Given the description of an element on the screen output the (x, y) to click on. 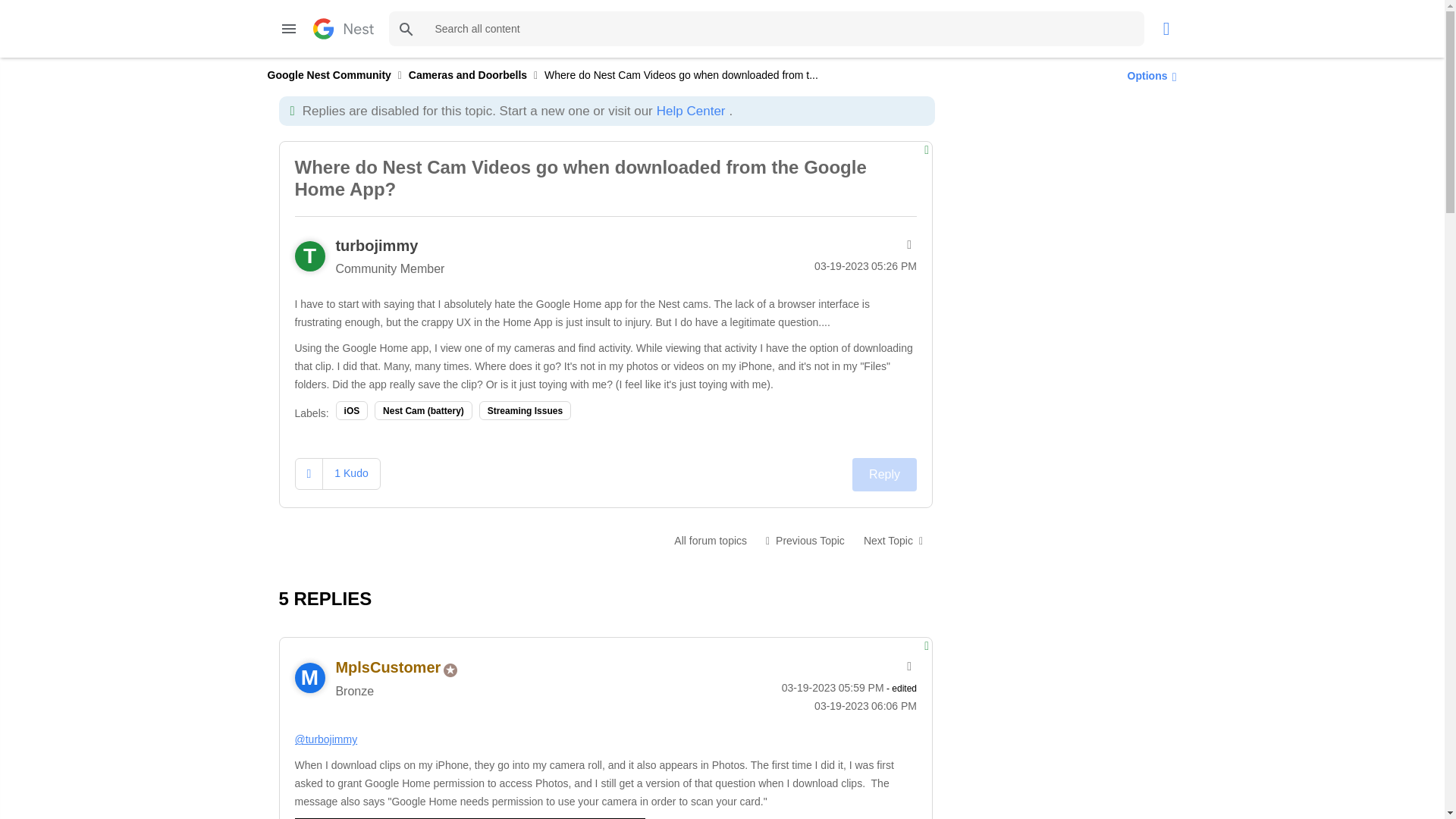
Search (405, 29)
Show option menu (1147, 75)
Click here to give kudos to this post. (309, 473)
Search (405, 29)
Google Nest Community (342, 28)
Google Nest Community (328, 74)
Search (405, 29)
Click here to see who gave kudos to this post. (350, 472)
Help Center (690, 110)
Bronze (450, 670)
Options (1147, 75)
Menu (287, 28)
Search (765, 28)
Cameras and Doorbells (468, 74)
Cameras and Doorbells (710, 540)
